Given the description of an element on the screen output the (x, y) to click on. 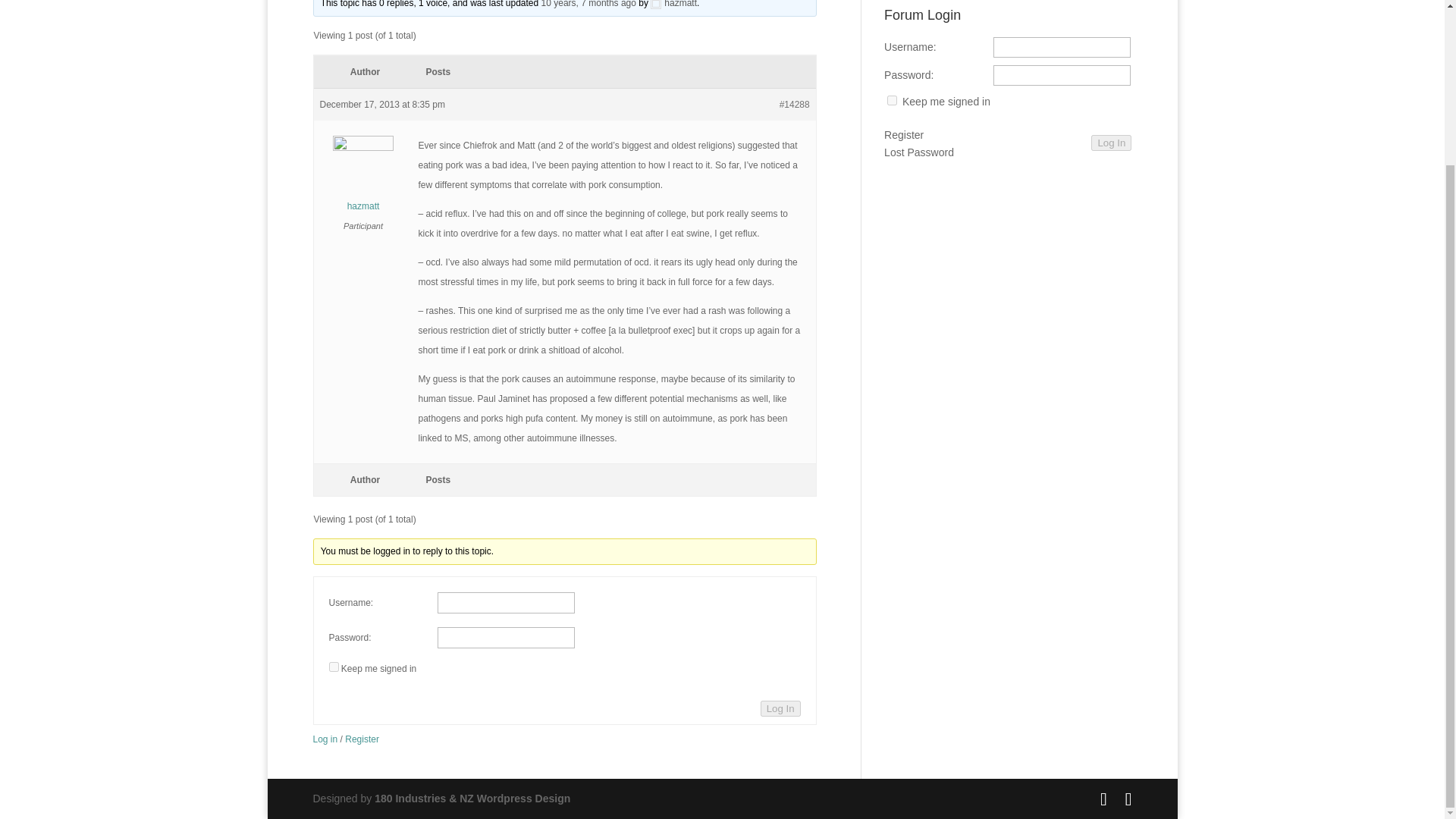
10 years, 7 months ago (588, 4)
View hazmatt's profile (673, 4)
Why Pork is Bad (588, 4)
NZ Wordpress Design (472, 798)
forever (334, 666)
Register (361, 738)
Lost Password (918, 153)
forever (891, 100)
View hazmatt's profile (363, 179)
hazmatt (673, 4)
Register (903, 135)
hazmatt (363, 179)
Log in (325, 738)
Log In (1110, 142)
Register (903, 135)
